Given the description of an element on the screen output the (x, y) to click on. 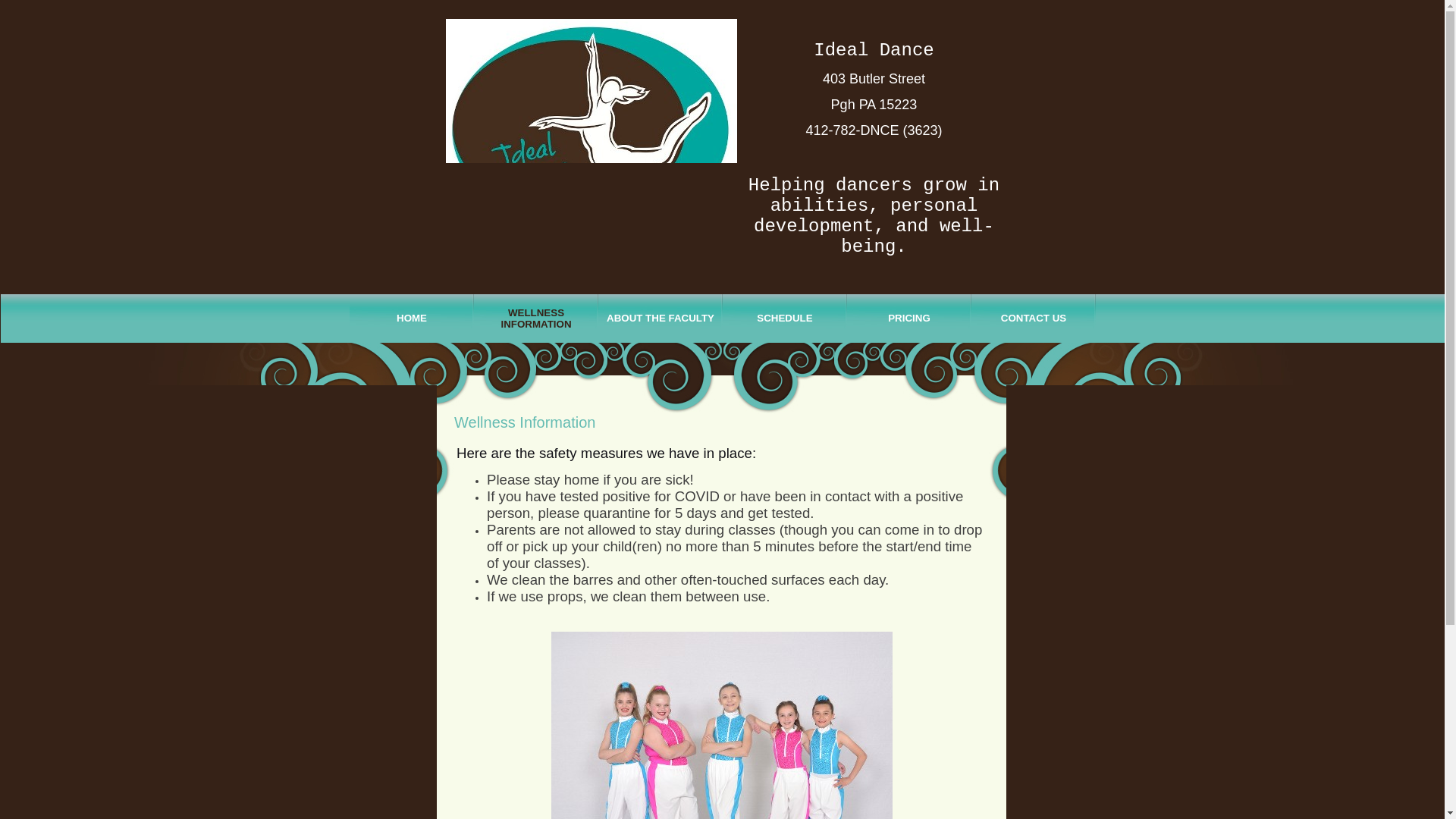
ABOUT THE FACULTY (660, 318)
HOME (411, 318)
SCHEDULE (784, 318)
WELLNESS INFORMATION (536, 318)
PRICING (909, 318)
CONTACT US (1033, 318)
